Given the description of an element on the screen output the (x, y) to click on. 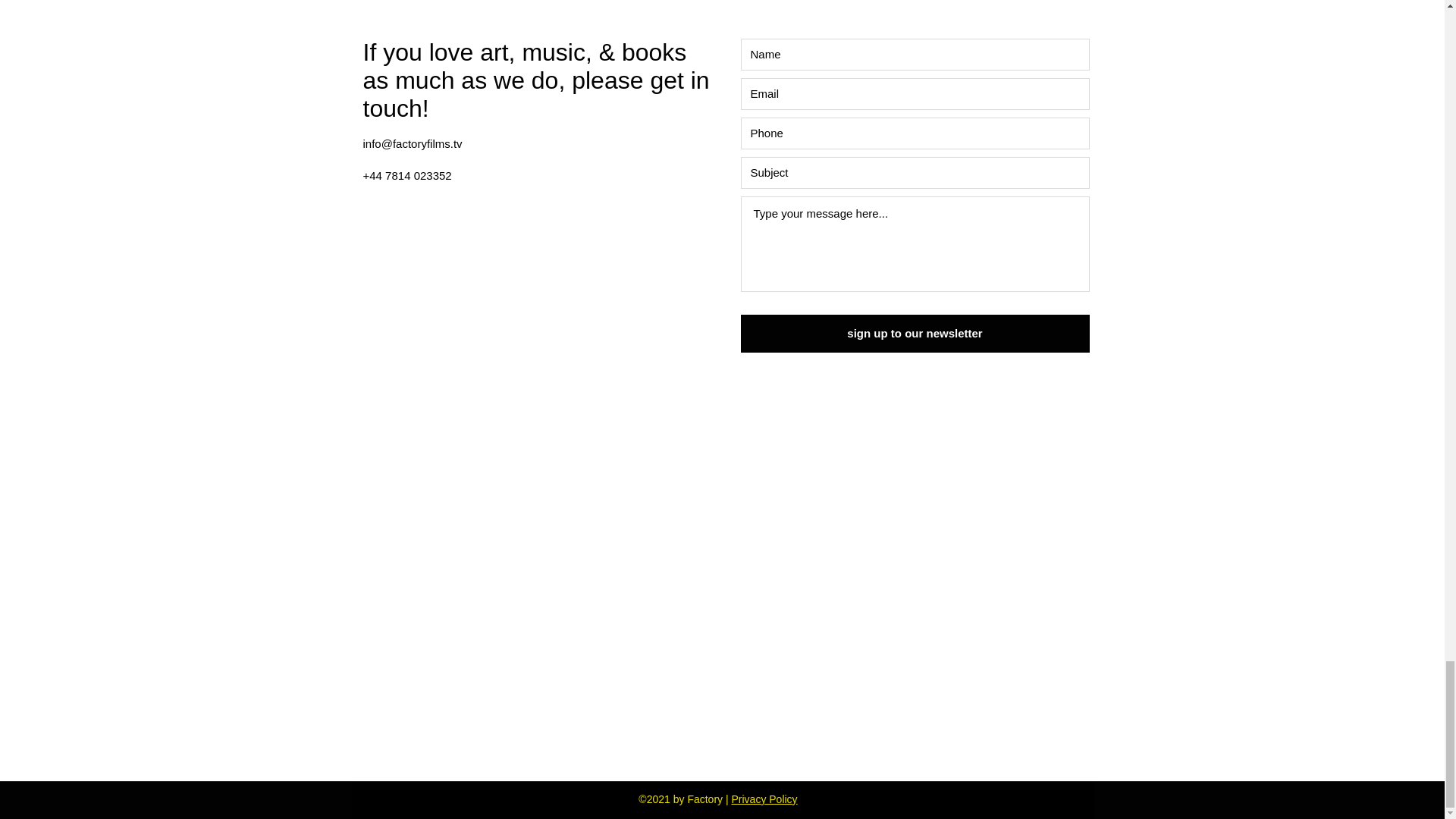
sign up to our newsletter (914, 333)
Privacy Policy (763, 799)
